Given the description of an element on the screen output the (x, y) to click on. 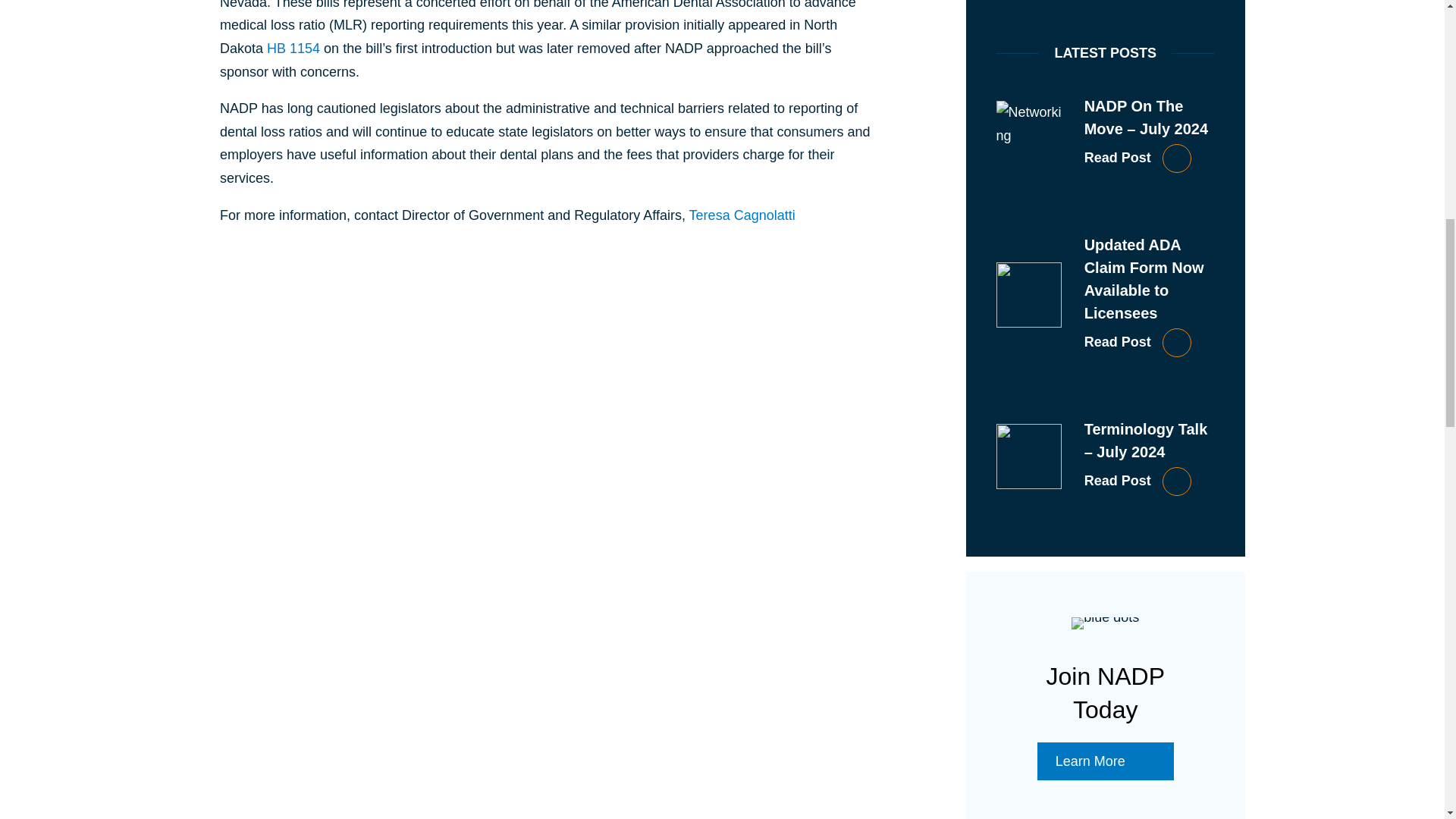
Updated ADA Claim Form Now Available to Licensees (1149, 342)
blue-dots (1104, 623)
Updated ADA Claim Form Now Available to Licensees (1144, 278)
